Given the description of an element on the screen output the (x, y) to click on. 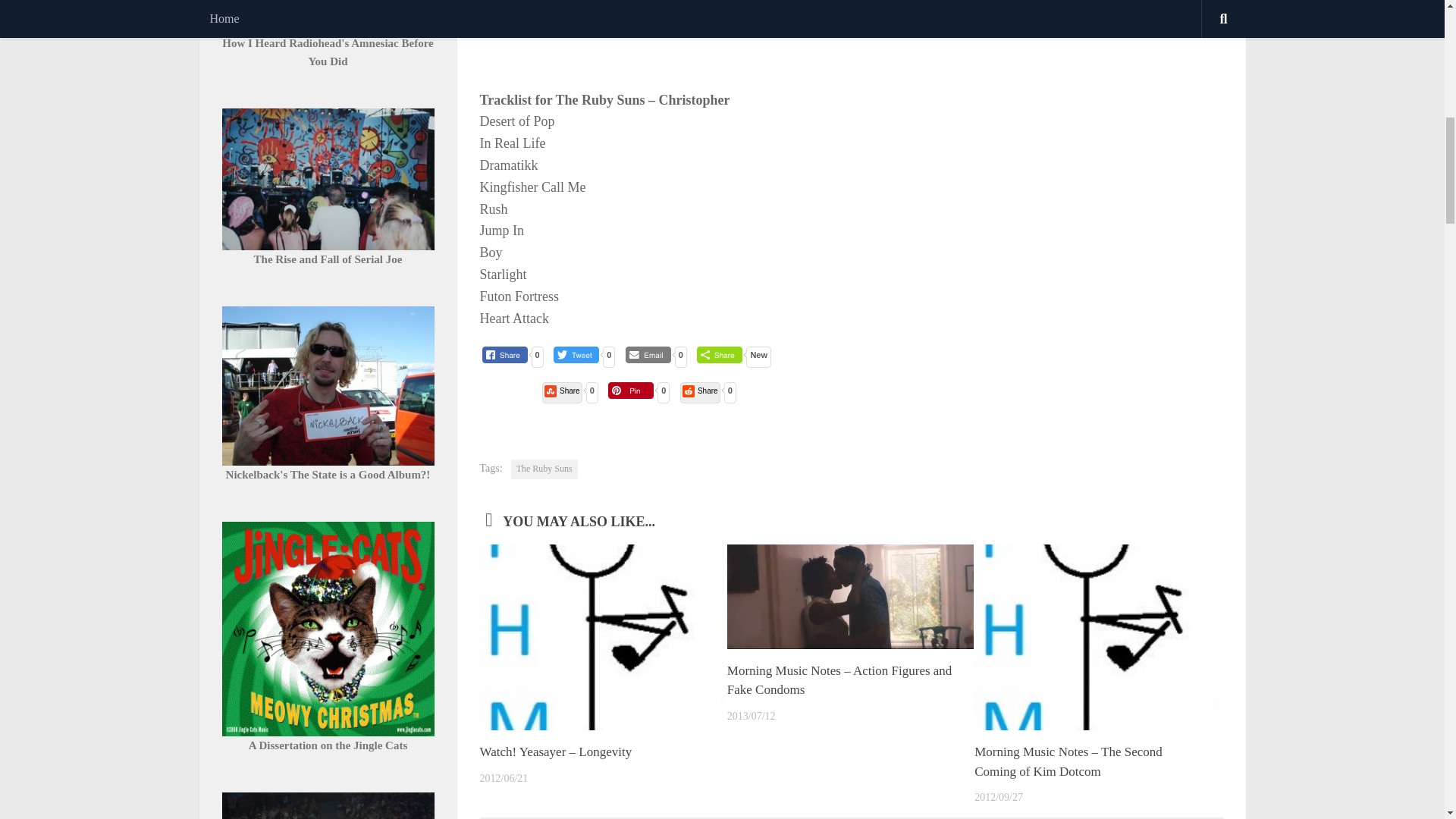
The Ruby Suns (544, 469)
How I Heard Radiohead's Amnesiac Before You Did (327, 51)
Nickelback's The State is a Good Album?! (327, 474)
The Rise and Fall of Serial Joe (328, 259)
